Given the description of an element on the screen output the (x, y) to click on. 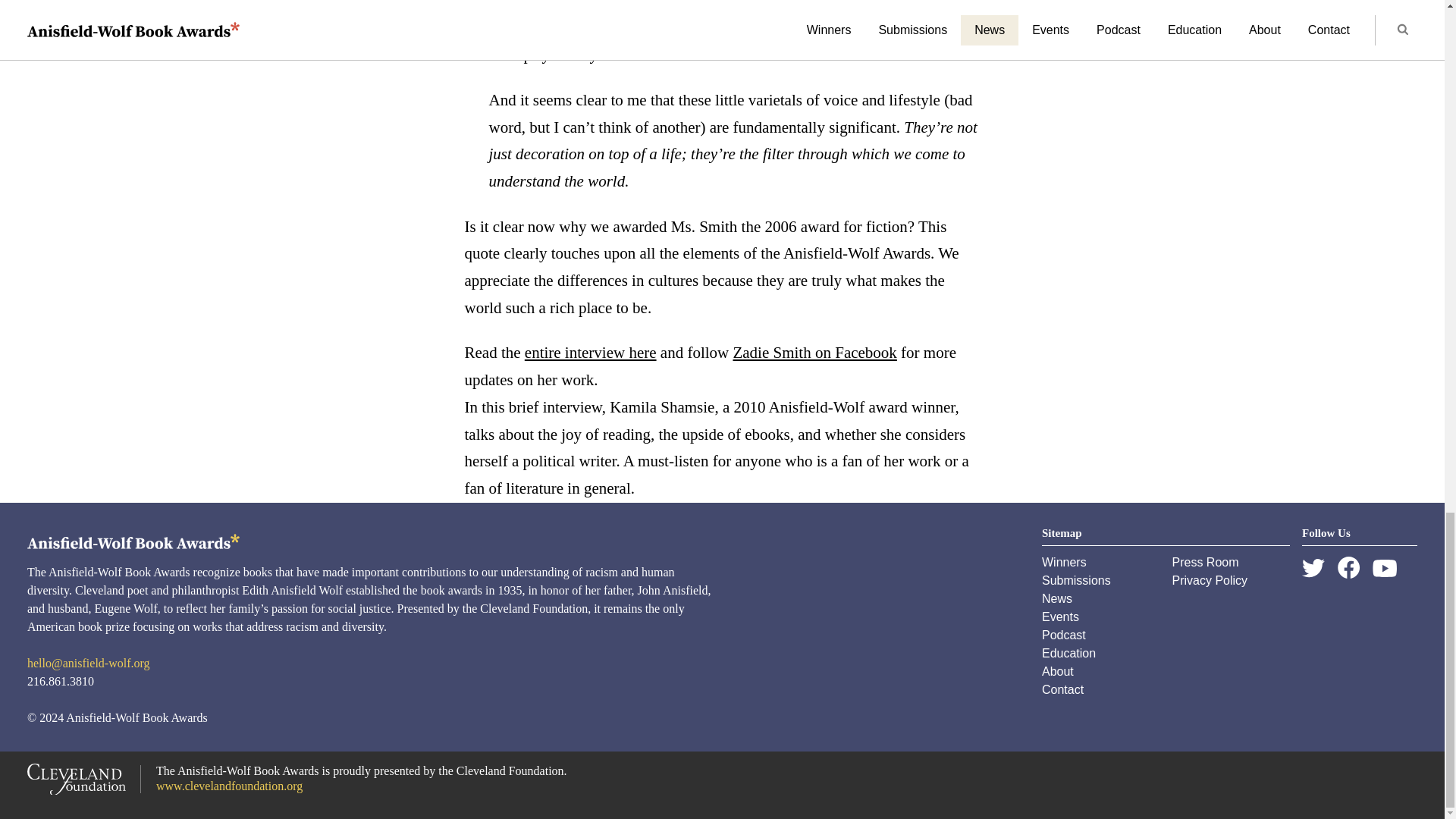
Press Room (1205, 562)
Winners (1064, 562)
www.clevelandfoundation.org (228, 785)
Contact (1062, 689)
twitter (1312, 568)
facebook (1347, 567)
About (1058, 671)
Podcast (1064, 634)
Privacy Policy (1209, 580)
youtube (1384, 568)
Events (1060, 616)
News (1056, 598)
Submissions (1076, 580)
entire interview here (590, 352)
Education (1069, 653)
